Given the description of an element on the screen output the (x, y) to click on. 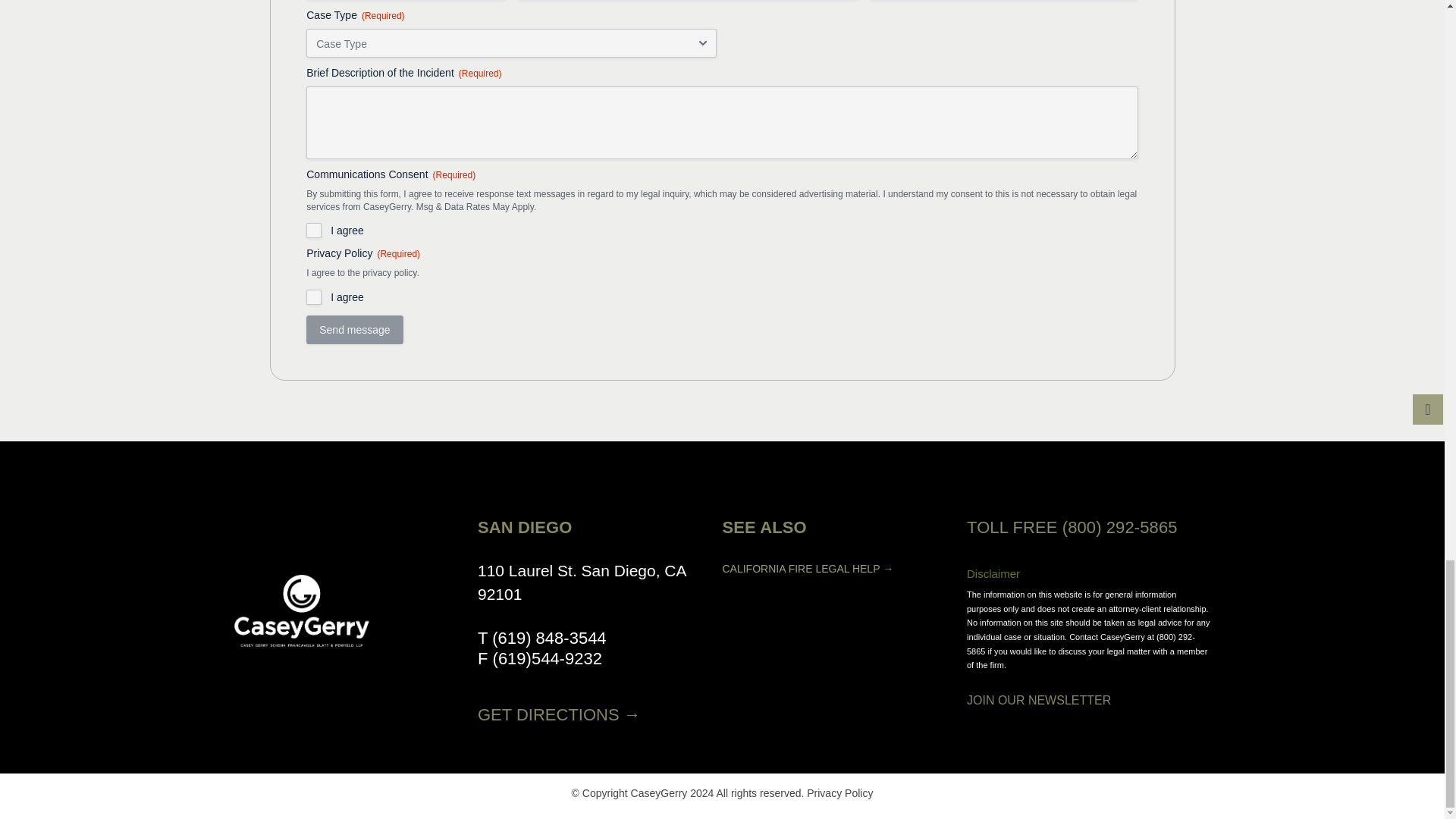
Send message (354, 329)
I agree (313, 296)
I agree (313, 230)
